Given the description of an element on the screen output the (x, y) to click on. 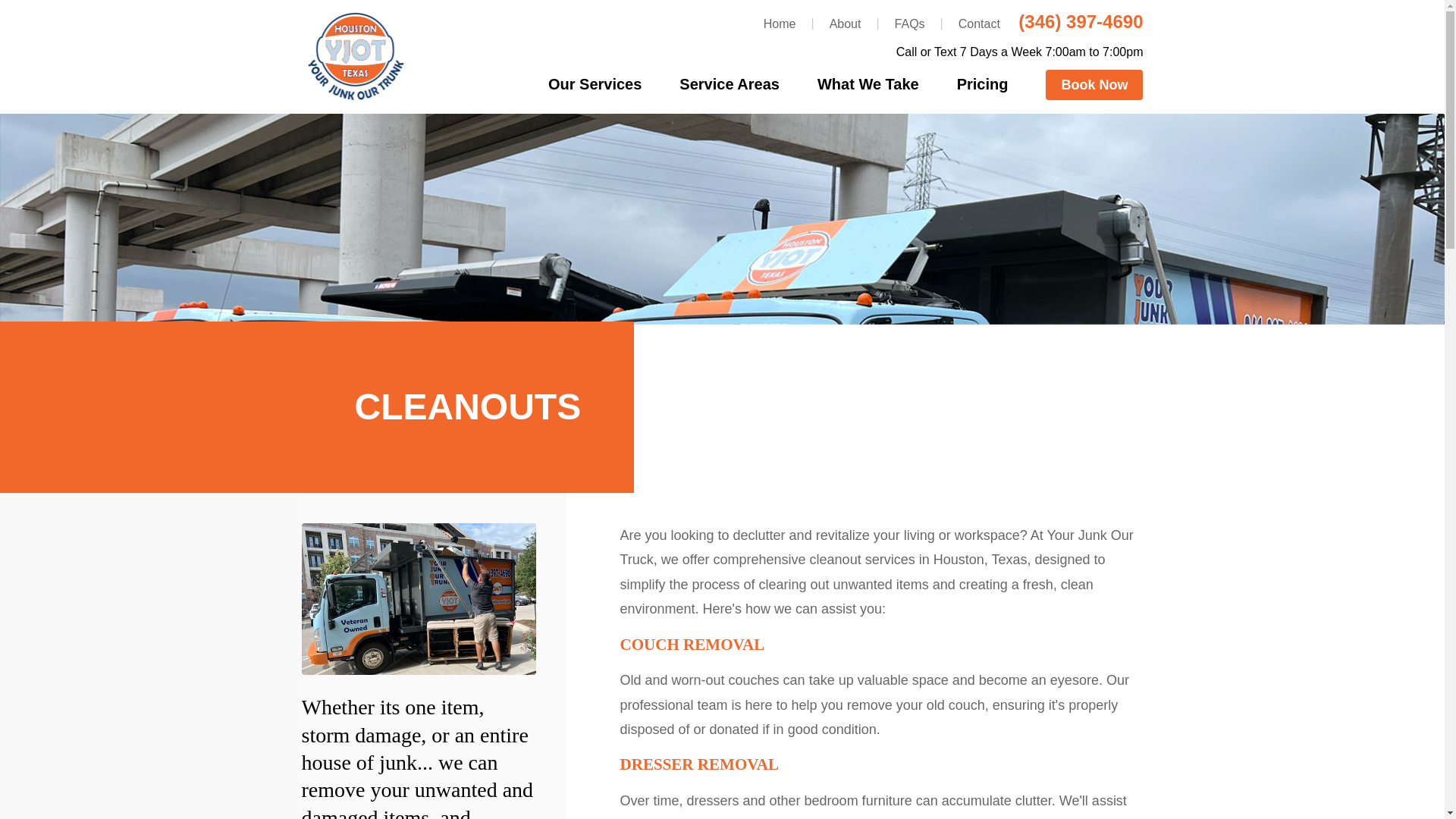
FAQs (907, 23)
Pricing (982, 83)
Our Services (595, 83)
Service Areas (728, 83)
Book Now (1093, 84)
Contact (977, 23)
Home (779, 23)
About (842, 23)
What We Take (867, 83)
